Given the description of an element on the screen output the (x, y) to click on. 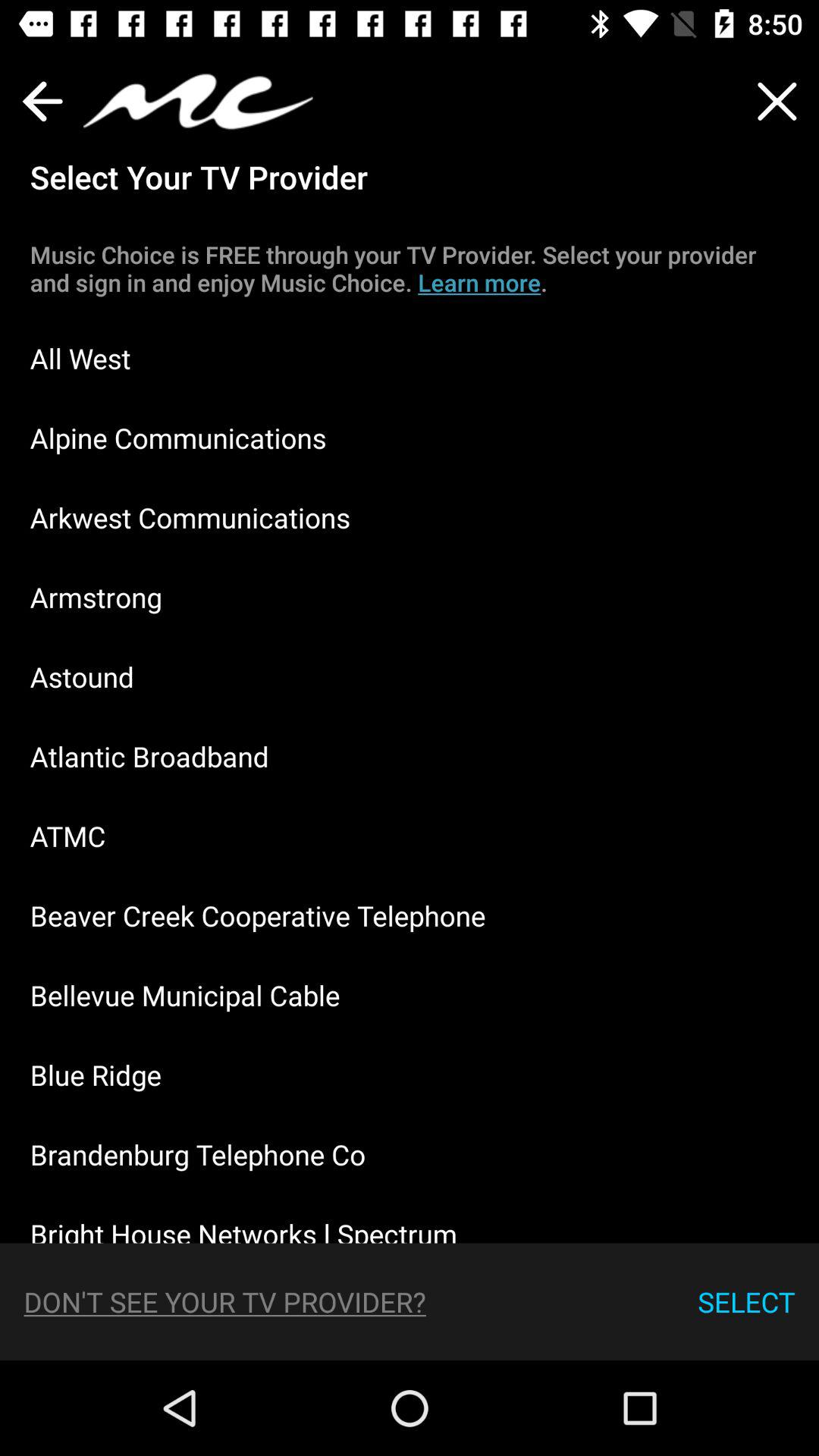
turn on the music choice is (409, 268)
